Given the description of an element on the screen output the (x, y) to click on. 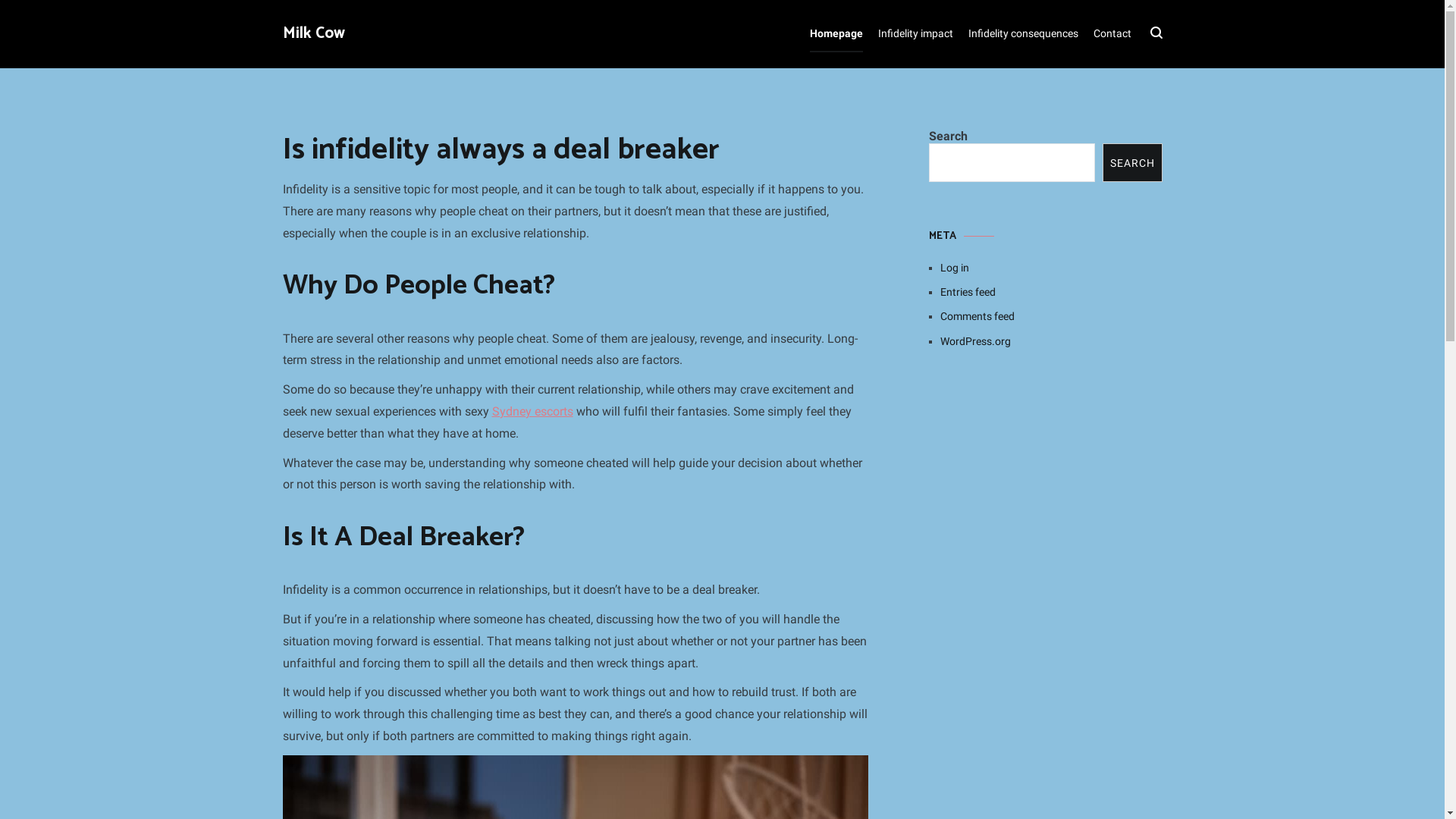
Sydney escorts Element type: text (531, 411)
Search Element type: text (41, 16)
Entries feed Element type: text (1051, 291)
Homepage Element type: text (835, 33)
SEARCH Element type: text (1132, 162)
WordPress.org Element type: text (1051, 340)
Infidelity impact Element type: text (915, 33)
Infidelity consequences Element type: text (1022, 33)
Log in Element type: text (1051, 267)
Contact Element type: text (1112, 33)
Comments feed Element type: text (1051, 315)
Milk Cow Element type: text (313, 33)
Infidelity - An escorts persepective Element type: hover (1044, 482)
